Given the description of an element on the screen output the (x, y) to click on. 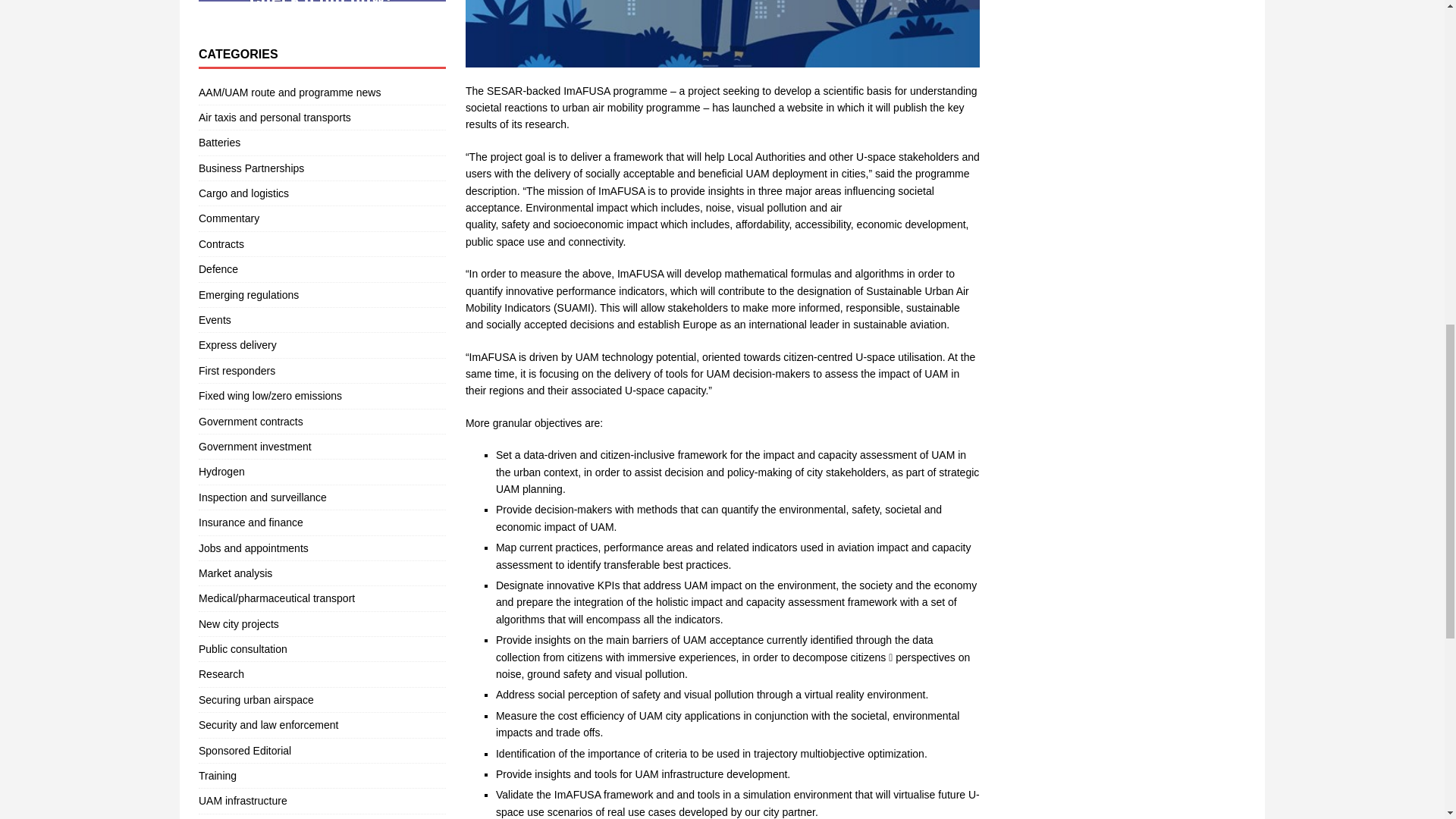
Contracts (321, 243)
Business Partnerships (321, 168)
Air taxis and personal transports (321, 117)
Batteries (321, 142)
IMFUSA (722, 33)
Cargo and logistics (321, 192)
Commentary (321, 218)
Defence (321, 269)
